Given the description of an element on the screen output the (x, y) to click on. 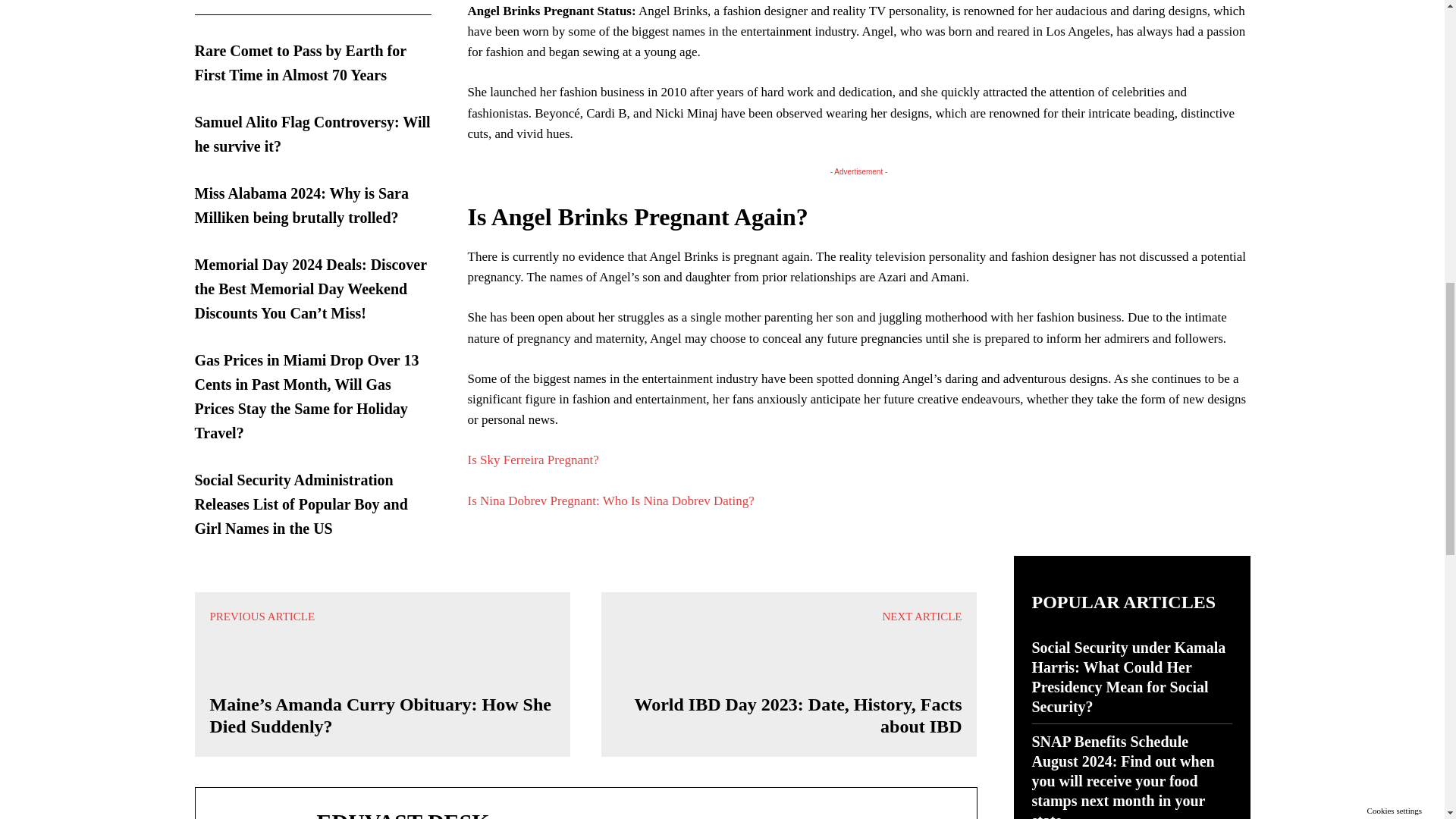
Samuel Alito Flag Controversy: Will he survive it? (311, 133)
